Given the description of an element on the screen output the (x, y) to click on. 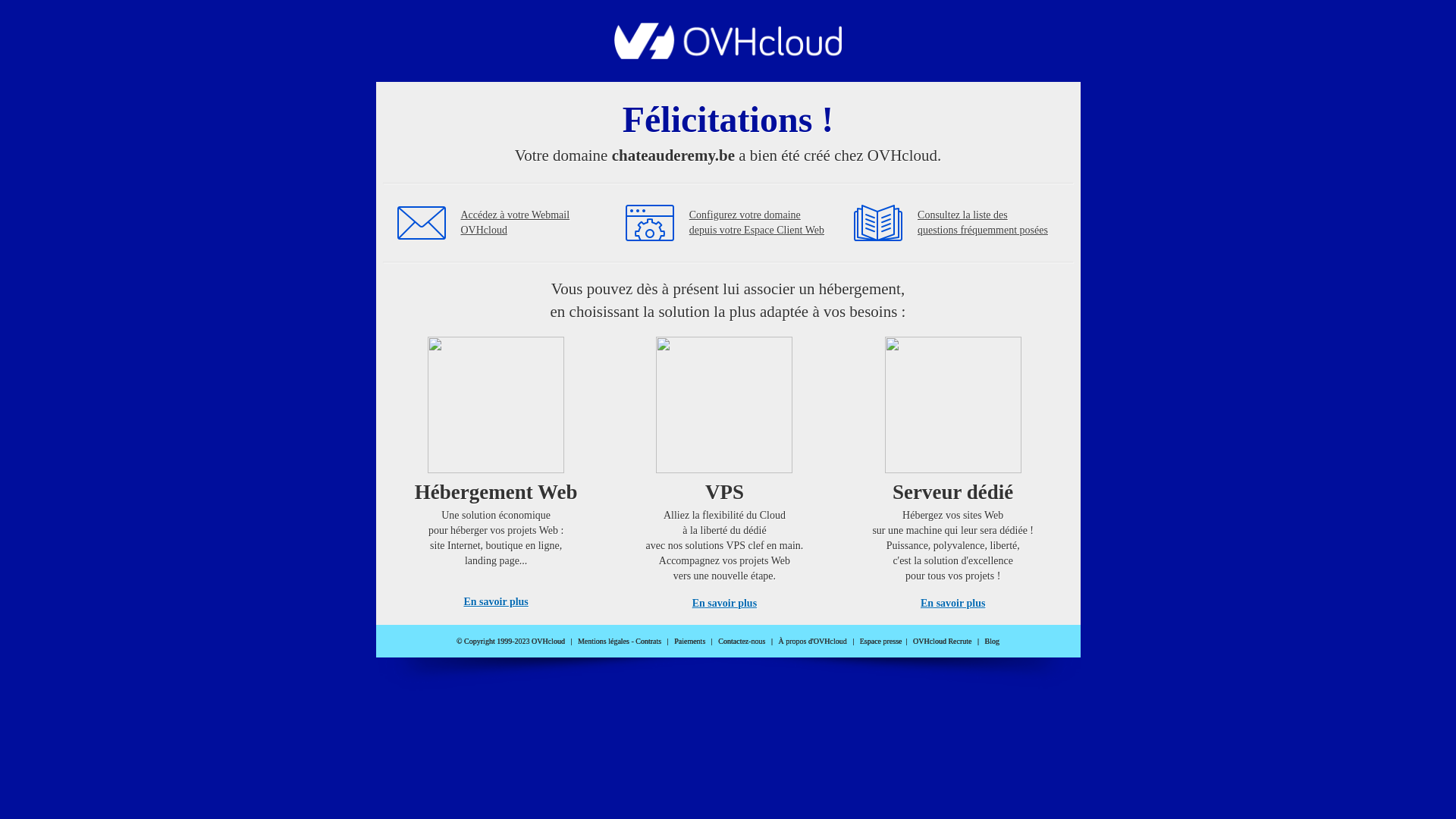
Paiements Element type: text (689, 641)
OVHcloud Element type: hover (727, 54)
Blog Element type: text (992, 641)
En savoir plus Element type: text (952, 602)
Configurez votre domaine
depuis votre Espace Client Web Element type: text (756, 222)
OVHcloud Recrute Element type: text (942, 641)
Espace presse Element type: text (880, 641)
En savoir plus Element type: text (495, 601)
Contactez-nous Element type: text (741, 641)
VPS Element type: hover (723, 469)
En savoir plus Element type: text (724, 602)
